Given the description of an element on the screen output the (x, y) to click on. 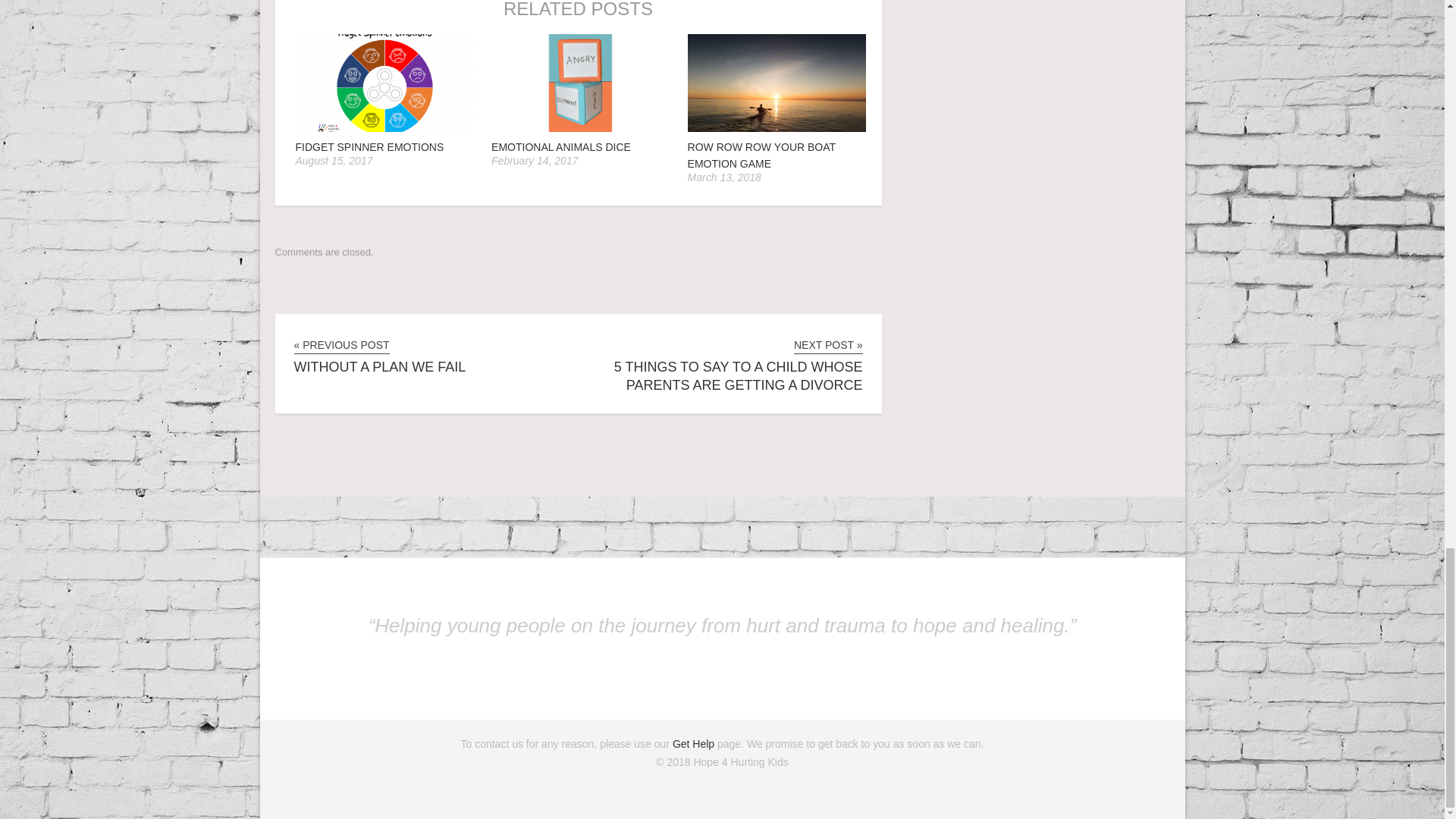
Permanent Link to Emotional Animals Dice (580, 128)
Permanent Link to Row Row Row Your Boat Emotion Game (761, 154)
Permanent Link to Fidget Spinner Emotions (369, 146)
Permanent Link to Fidget Spinner Emotions (384, 128)
Permanent Link to Emotional Animals Dice (561, 146)
Permanent Link to Row Row Row Your Boat Emotion Game (776, 128)
